Given the description of an element on the screen output the (x, y) to click on. 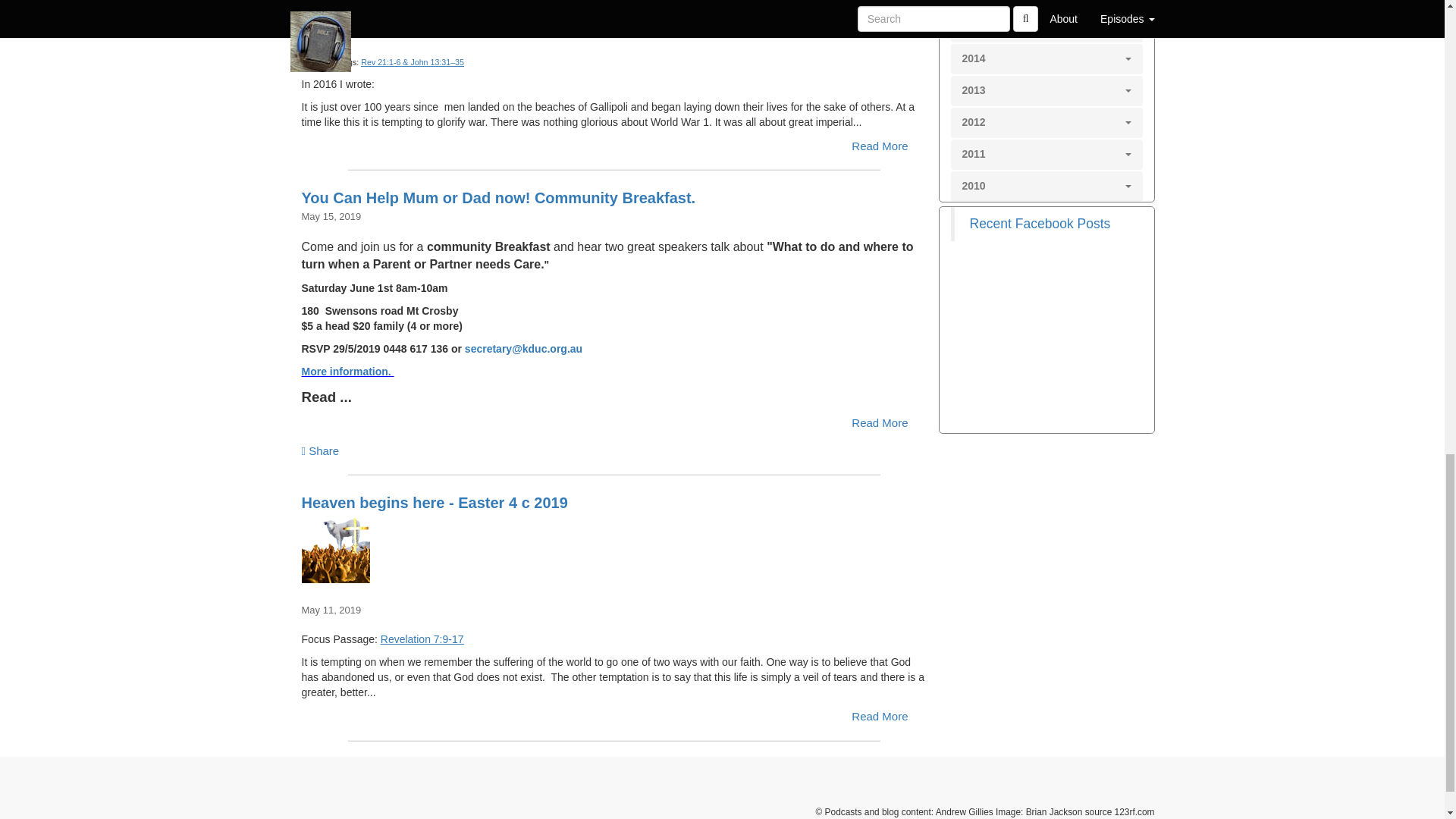
Heaven begins here - Easter 4 c 2019 (614, 549)
